Given the description of an element on the screen output the (x, y) to click on. 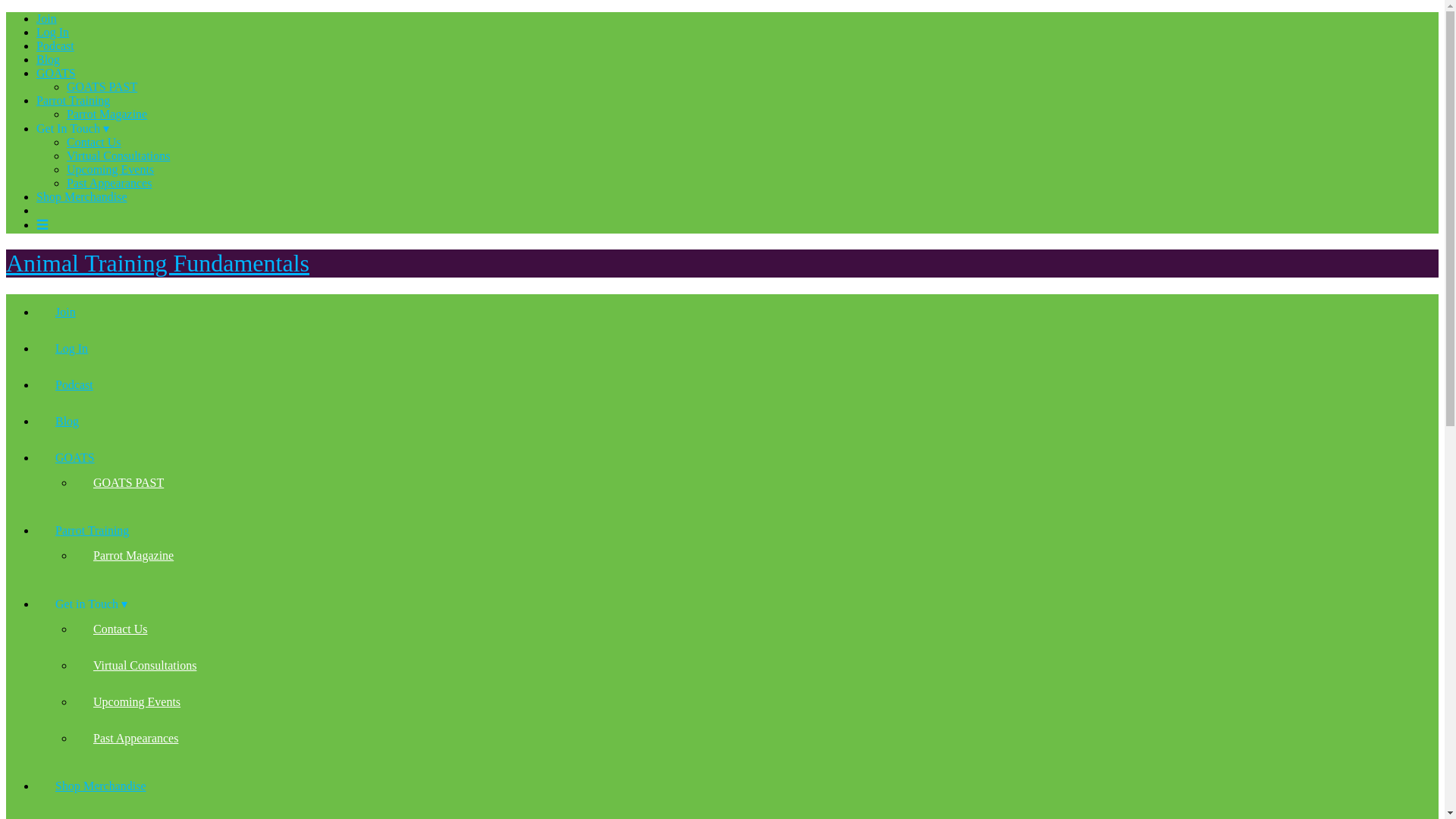
Shop Merchandise (82, 196)
Virtual Consultations (144, 665)
Log In (71, 348)
GOATS (55, 72)
Virtual Consultations (118, 155)
GOATS PAST (127, 482)
Shop Merchandise (100, 785)
Past Appearances (135, 738)
Contact Us (119, 629)
Join (65, 312)
Past Appearances (108, 182)
Animal Training Fundamentals (156, 262)
GOATS PAST (101, 86)
Parrot Training (73, 100)
Log In (52, 31)
